Given the description of an element on the screen output the (x, y) to click on. 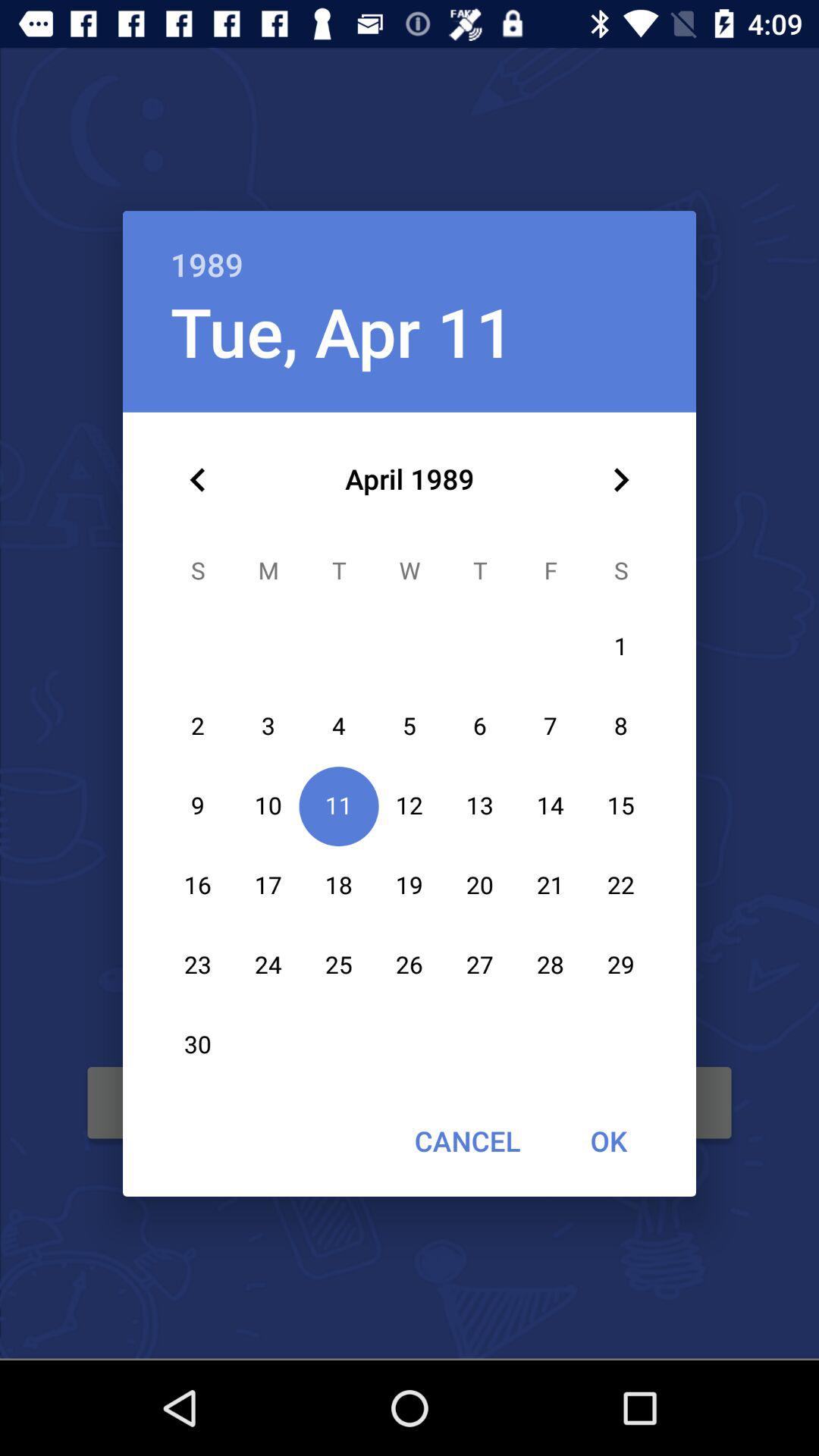
choose icon above ok (620, 479)
